Given the description of an element on the screen output the (x, y) to click on. 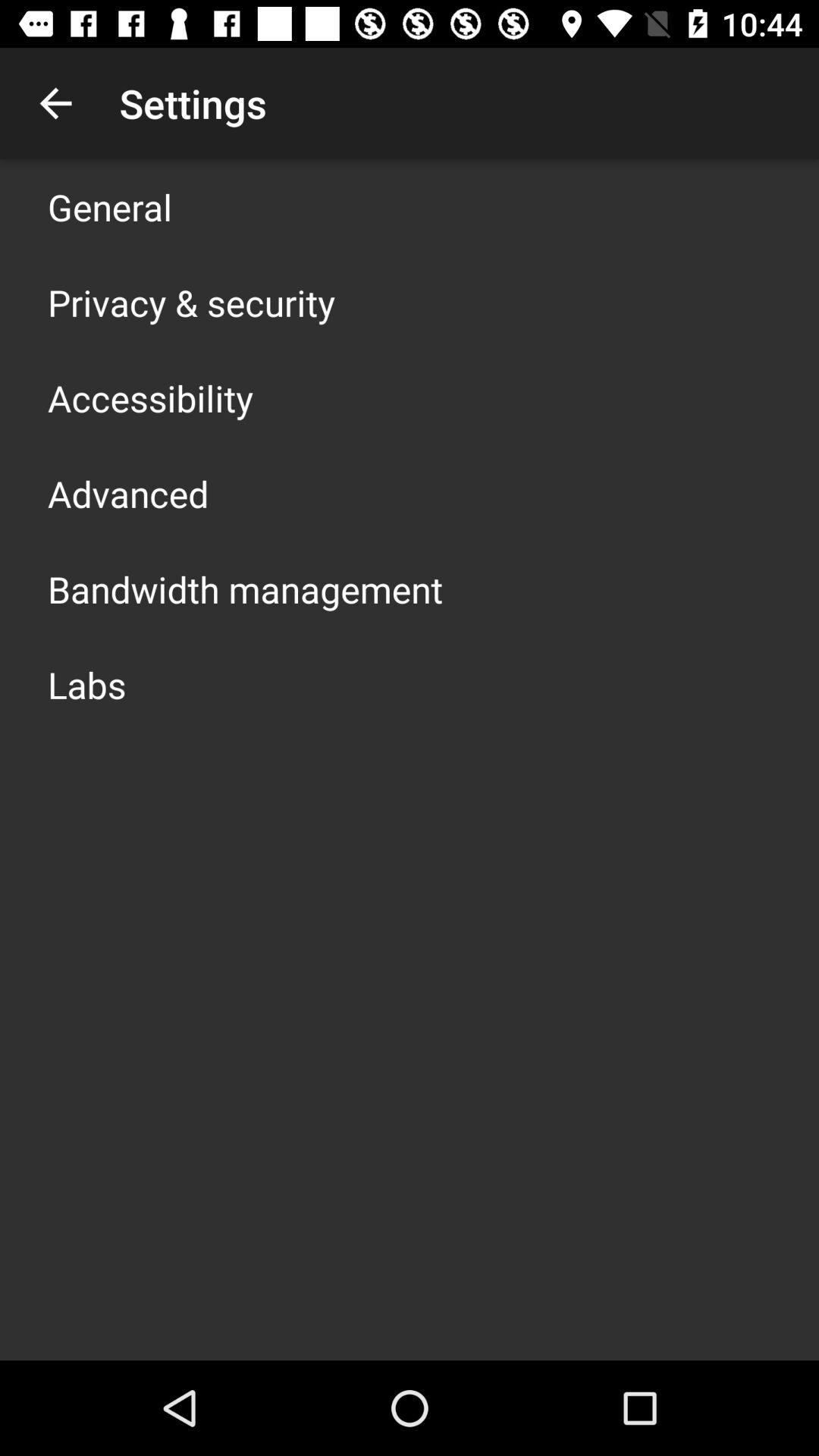
tap the icon below the general icon (190, 302)
